Given the description of an element on the screen output the (x, y) to click on. 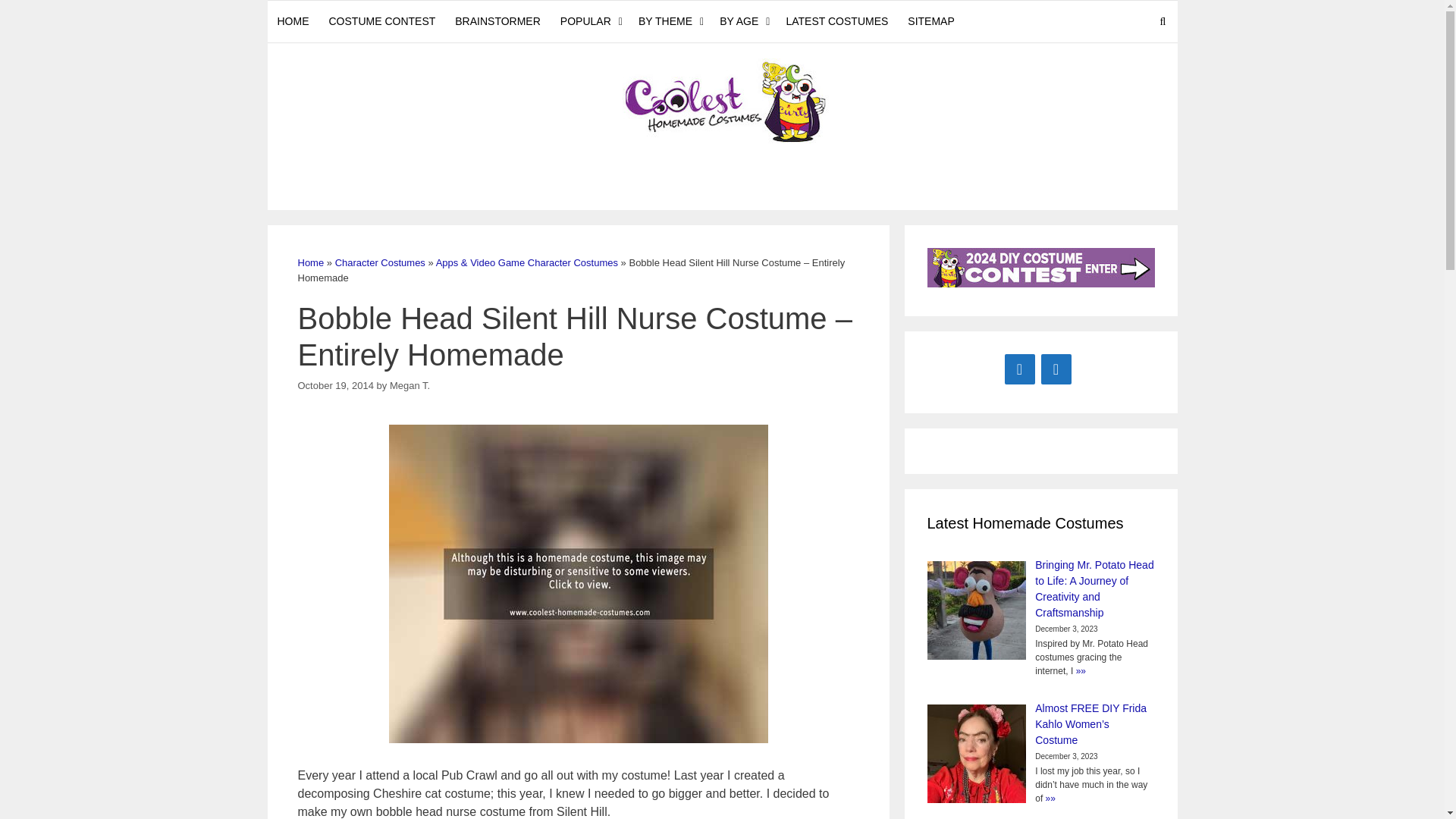
COSTUME CONTEST (381, 21)
HOME (292, 21)
LATEST COSTUMES (837, 21)
POPULAR (589, 21)
View all posts by Megan T. (409, 384)
BRAINSTORMER (497, 21)
Instagram (1055, 368)
Facebook (1018, 368)
SITEMAP (930, 21)
BY AGE (743, 21)
